Given the description of an element on the screen output the (x, y) to click on. 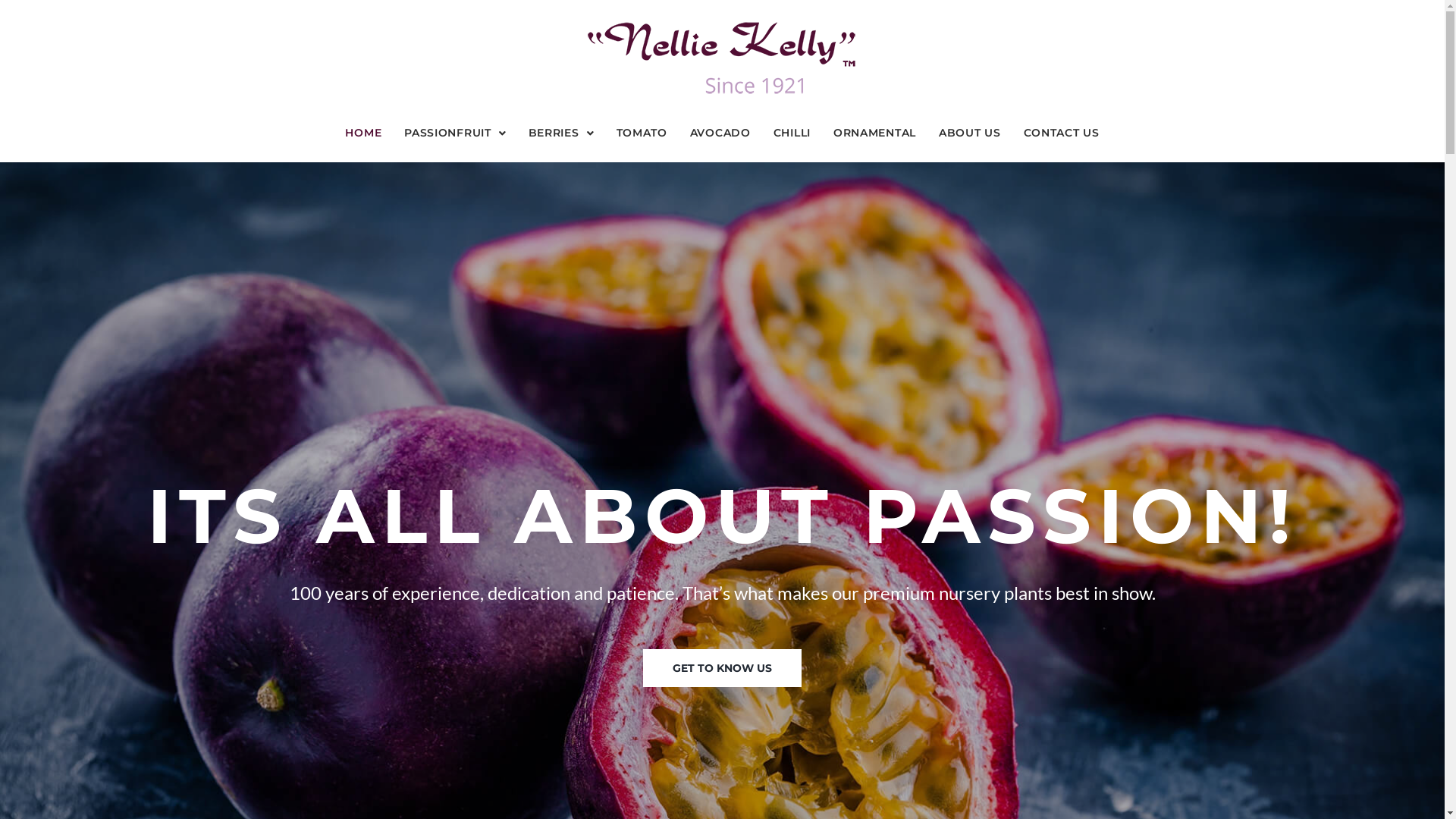
CONTACT US Element type: text (1061, 133)
PASSIONFRUIT Element type: text (454, 133)
ORNAMENTAL Element type: text (874, 133)
CHILLI Element type: text (792, 133)
GET TO KNOW US Element type: text (722, 668)
HOME Element type: text (362, 133)
ABOUT US Element type: text (969, 133)
BERRIES Element type: text (561, 133)
TOMATO Element type: text (641, 133)
AVOCADO Element type: text (720, 133)
